Given the description of an element on the screen output the (x, y) to click on. 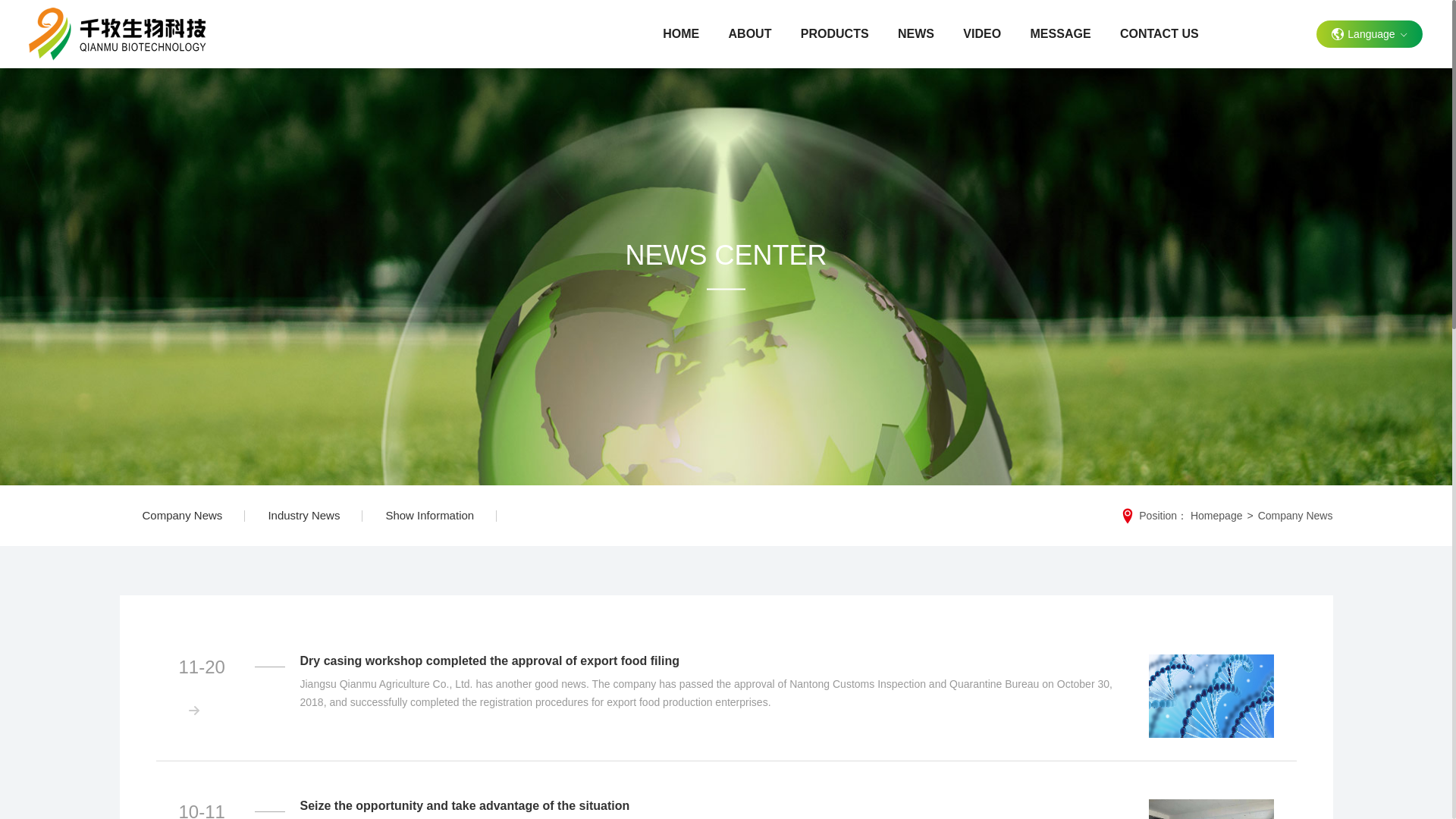
HOME (681, 33)
ABOUT (749, 33)
Show Information (429, 515)
NEWS (914, 33)
CONTACT US (1158, 33)
PRODUCTS (834, 33)
VIDEO (982, 33)
Seize the opportunity and take advantage of the situation (712, 806)
Company News (182, 515)
Seize the opportunity and take advantage of the situation (1210, 809)
Industry News (303, 515)
Industry News (303, 515)
MESSAGE (1060, 33)
Homepage (1217, 515)
